Given the description of an element on the screen output the (x, y) to click on. 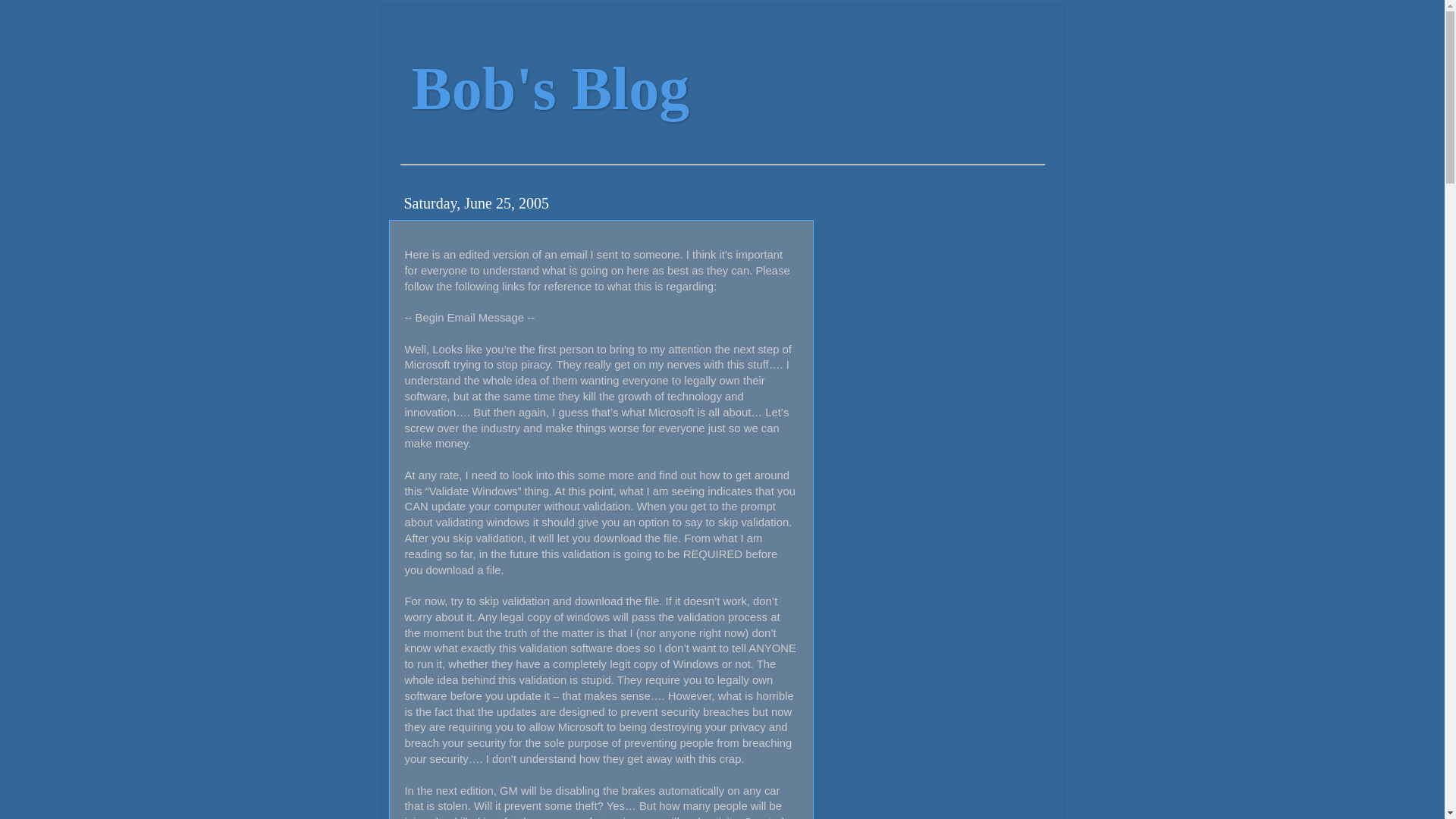
Bob's Blog (549, 88)
